Given the description of an element on the screen output the (x, y) to click on. 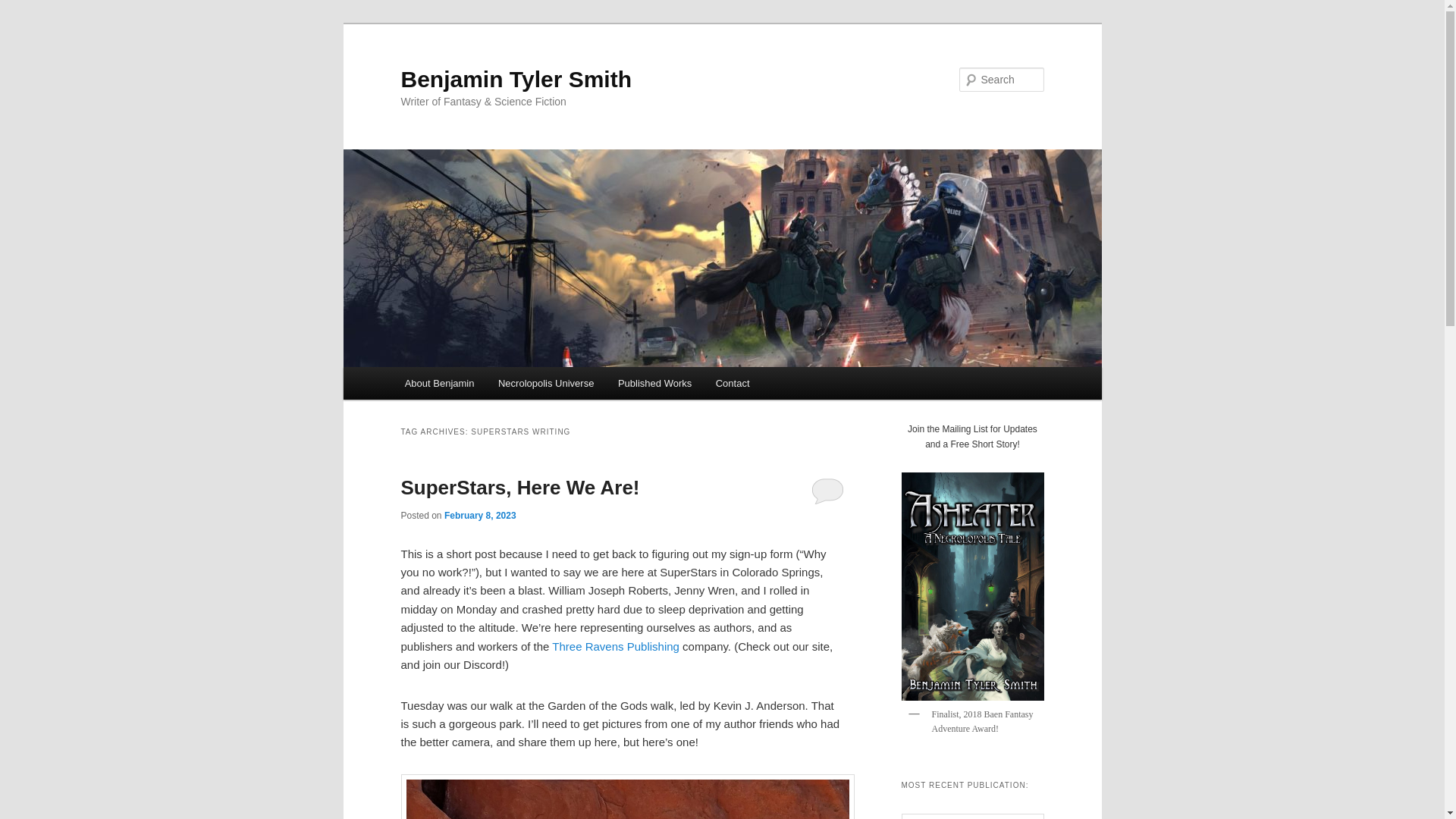
About Benjamin (439, 382)
Contact (732, 382)
9:05 am (480, 515)
Three Ravens Publishing (615, 645)
SuperStars, Here We Are! (519, 486)
Necrolopolis Universe (545, 382)
Published Works (654, 382)
February 8, 2023 (480, 515)
Search (24, 8)
